Given the description of an element on the screen output the (x, y) to click on. 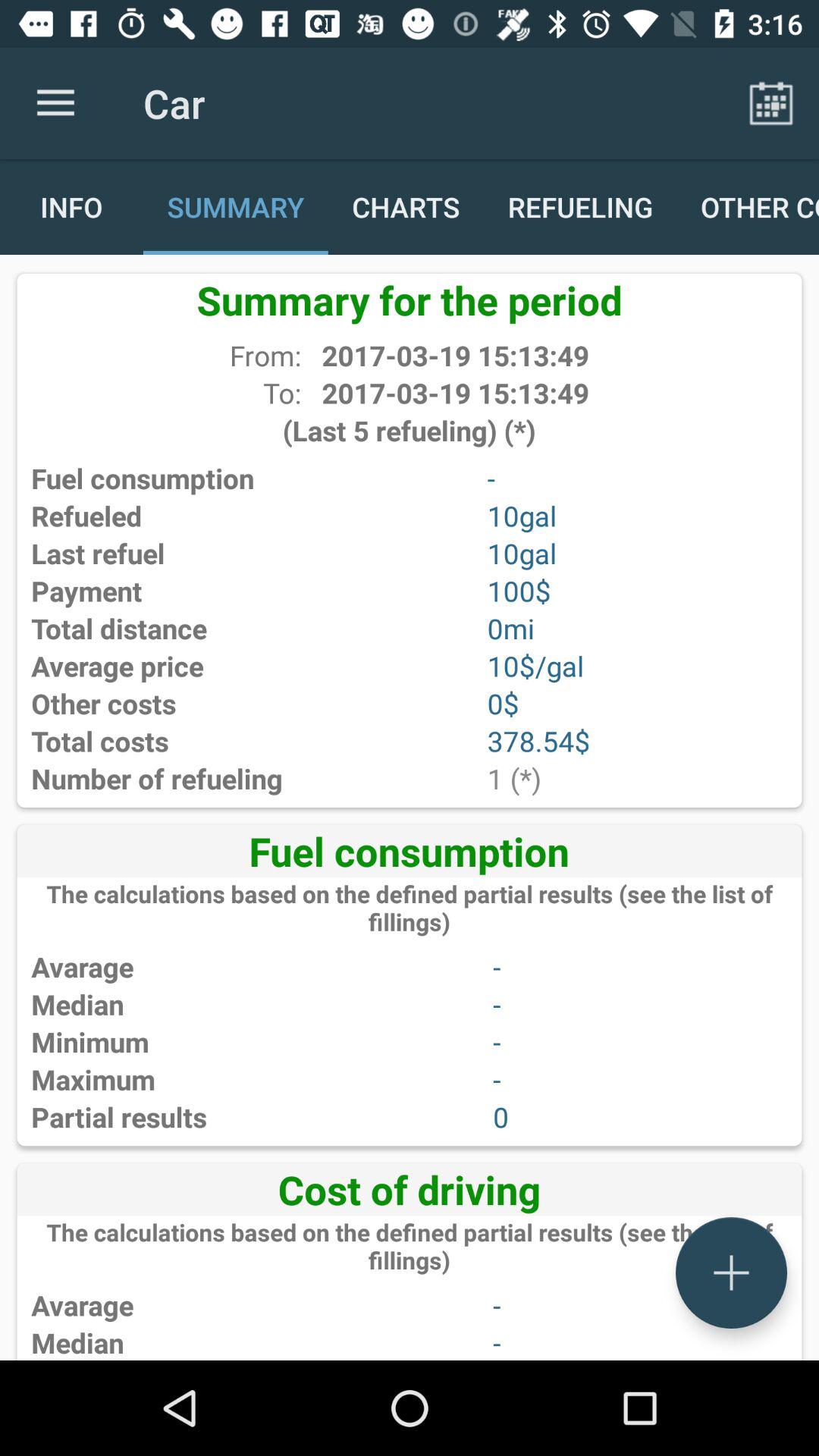
choose item to the right of the car icon (771, 103)
